Given the description of an element on the screen output the (x, y) to click on. 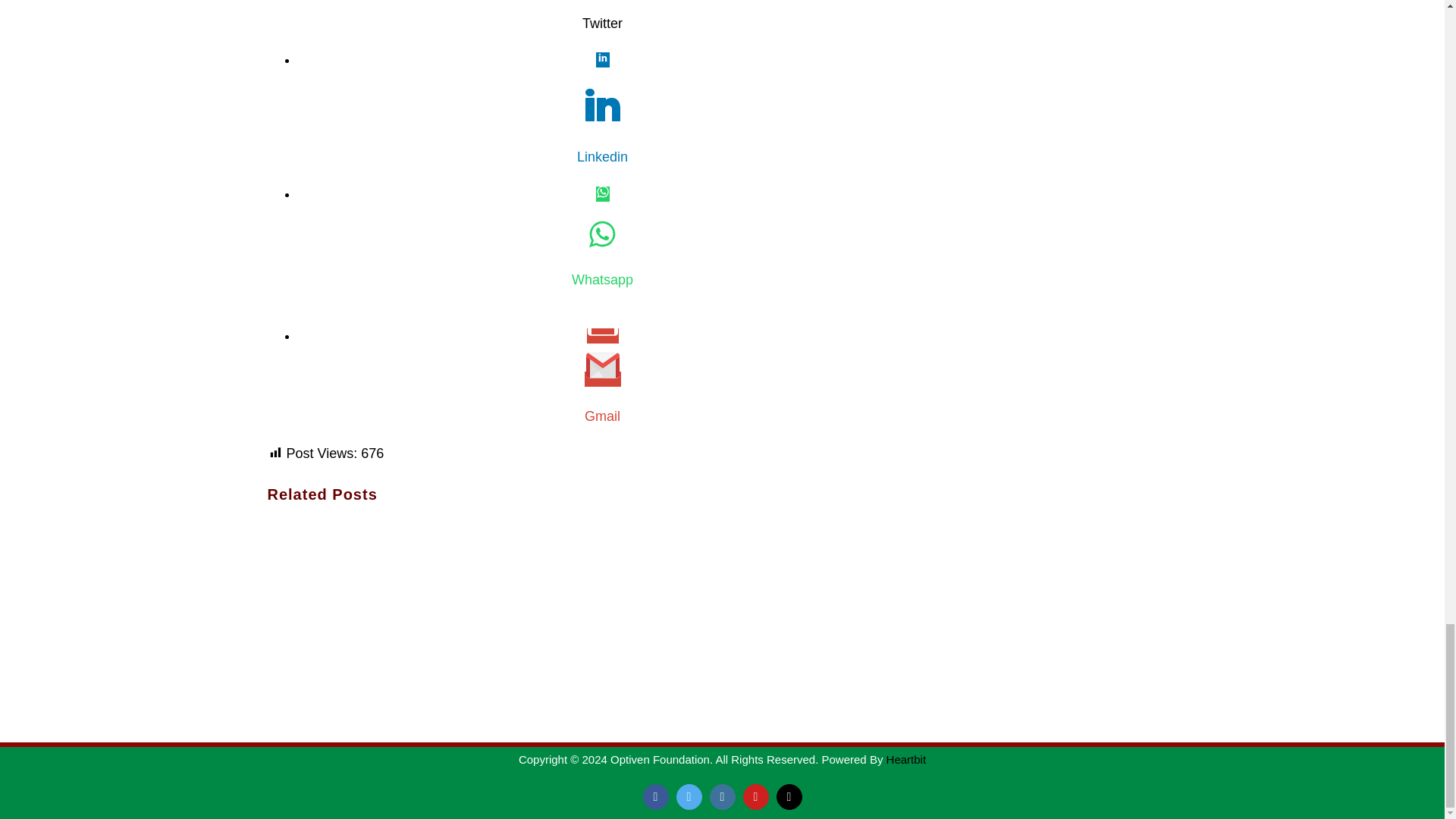
Email (789, 796)
Linkedin (602, 157)
Instagram (722, 796)
Whatsapp (602, 280)
Gmail (602, 377)
Gmail (602, 416)
Facebook (655, 796)
Twitter (689, 796)
Whatsapp (602, 238)
Twitter (602, 24)
Twitter (602, 17)
YouTube (755, 796)
Linkedin (602, 109)
